Given the description of an element on the screen output the (x, y) to click on. 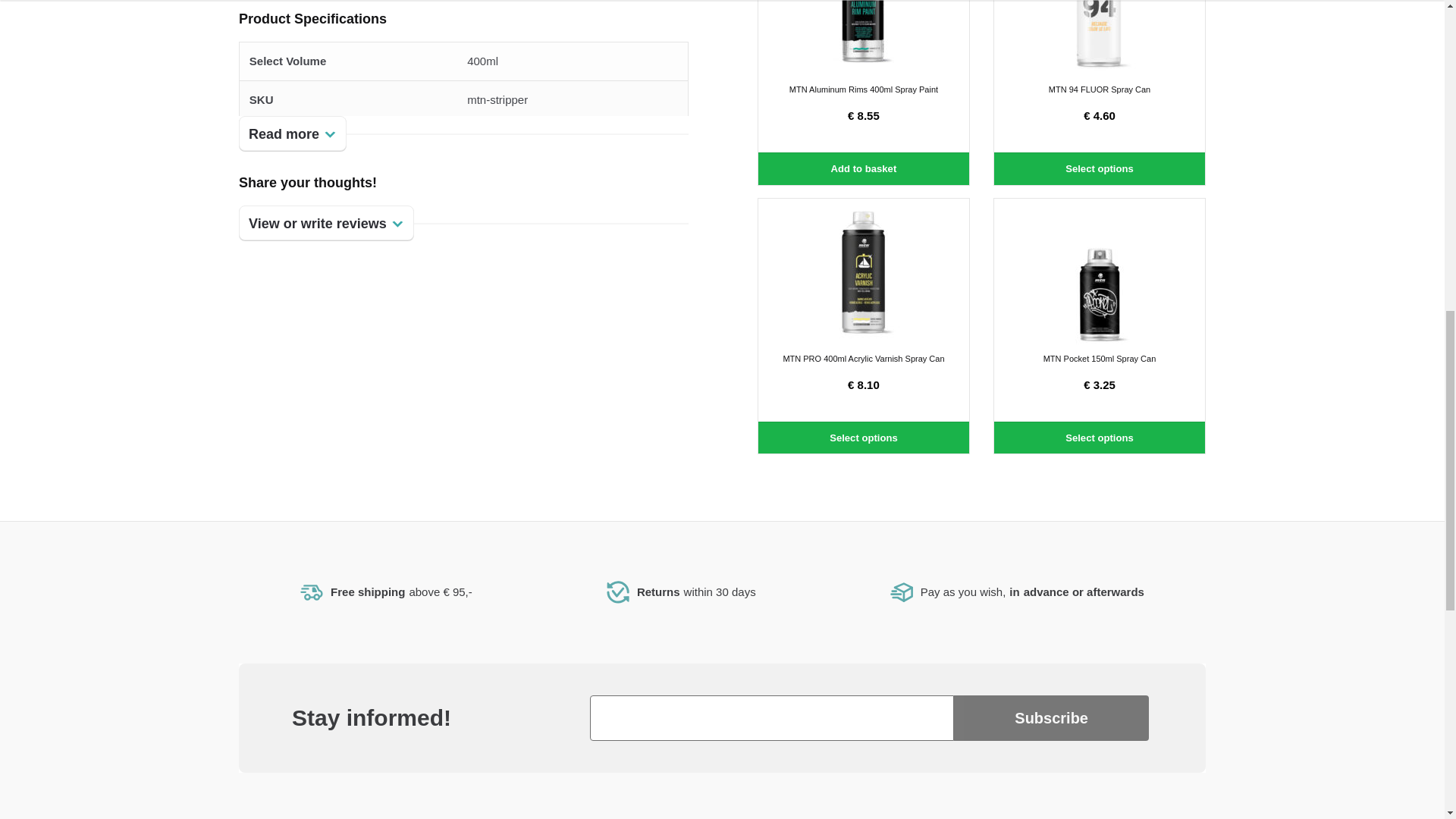
Subscribe (1050, 718)
